Given the description of an element on the screen output the (x, y) to click on. 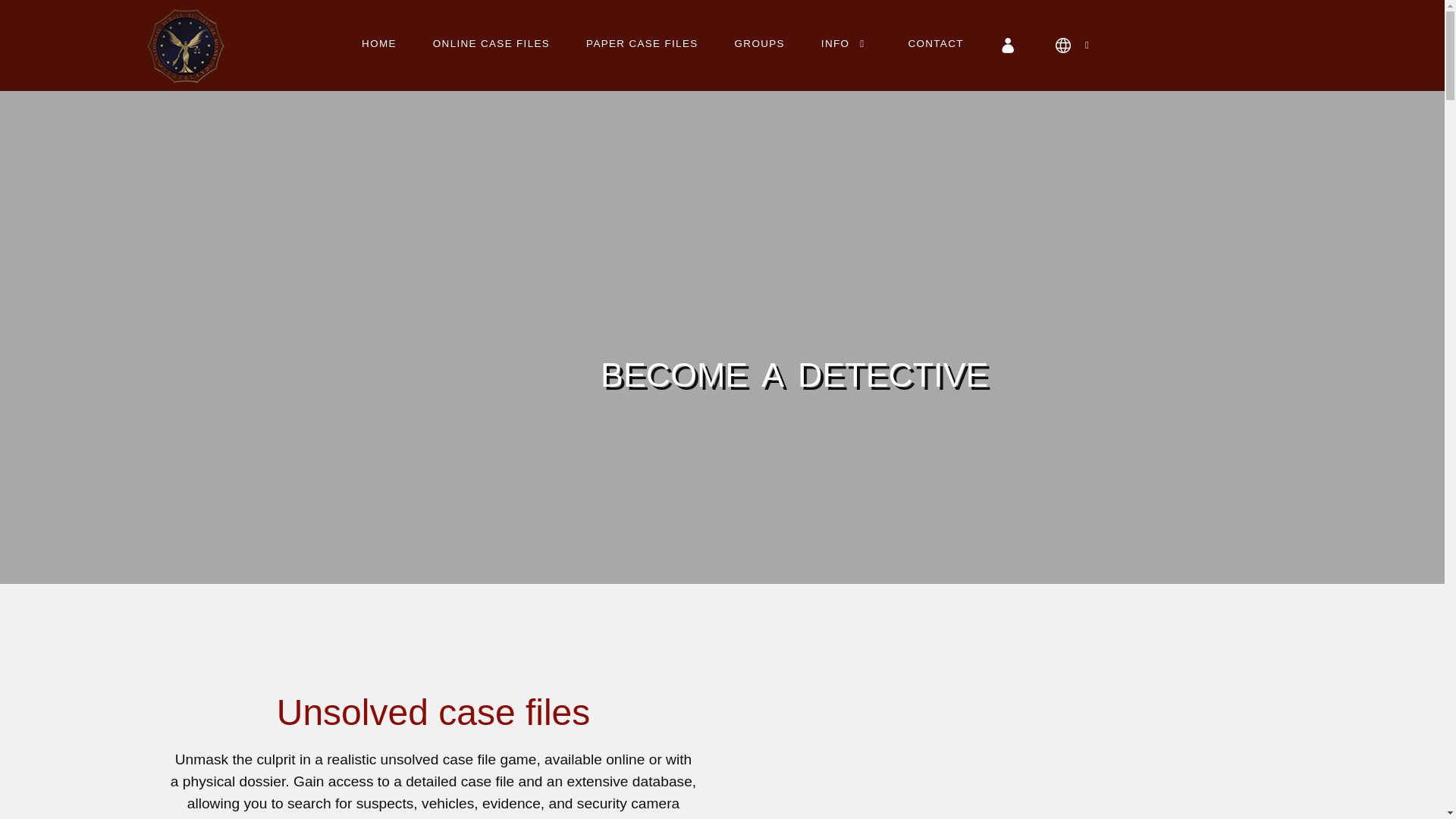
PAPER CASE FILES (641, 43)
ONLINE CASE FILES (490, 43)
HOME (378, 43)
GROUPS (759, 43)
CONTACT (935, 43)
Login (1008, 45)
